Given the description of an element on the screen output the (x, y) to click on. 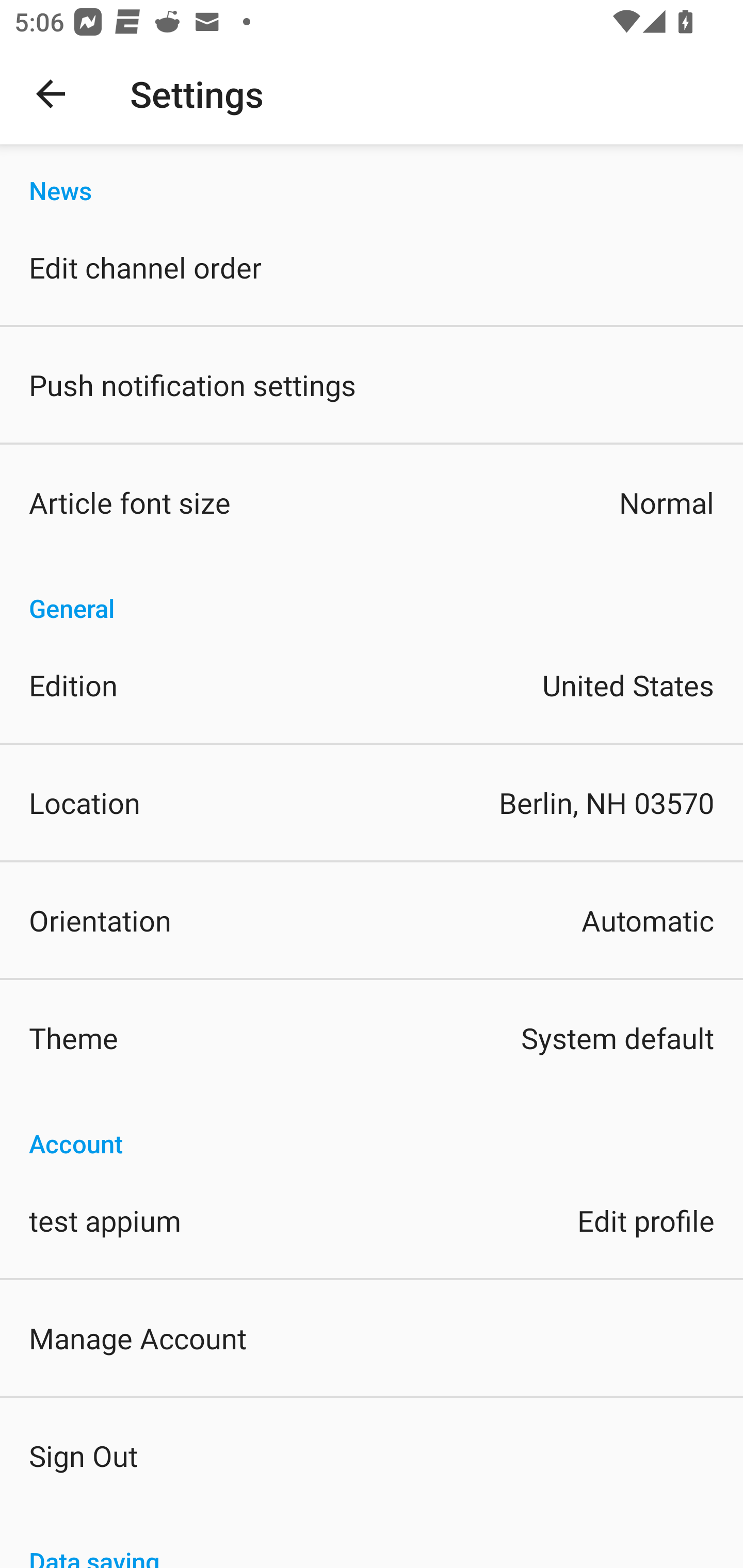
Navigate up (50, 93)
Edit channel order (371, 267)
Push notification settings (371, 384)
Article font size Normal (371, 502)
Edition United States (371, 685)
Location Berlin, NH 03570 (371, 802)
Orientation Automatic (371, 920)
Theme System default (371, 1038)
test appium Edit profile (371, 1219)
Manage Account (371, 1337)
Sign Out (371, 1455)
